Given the description of an element on the screen output the (x, y) to click on. 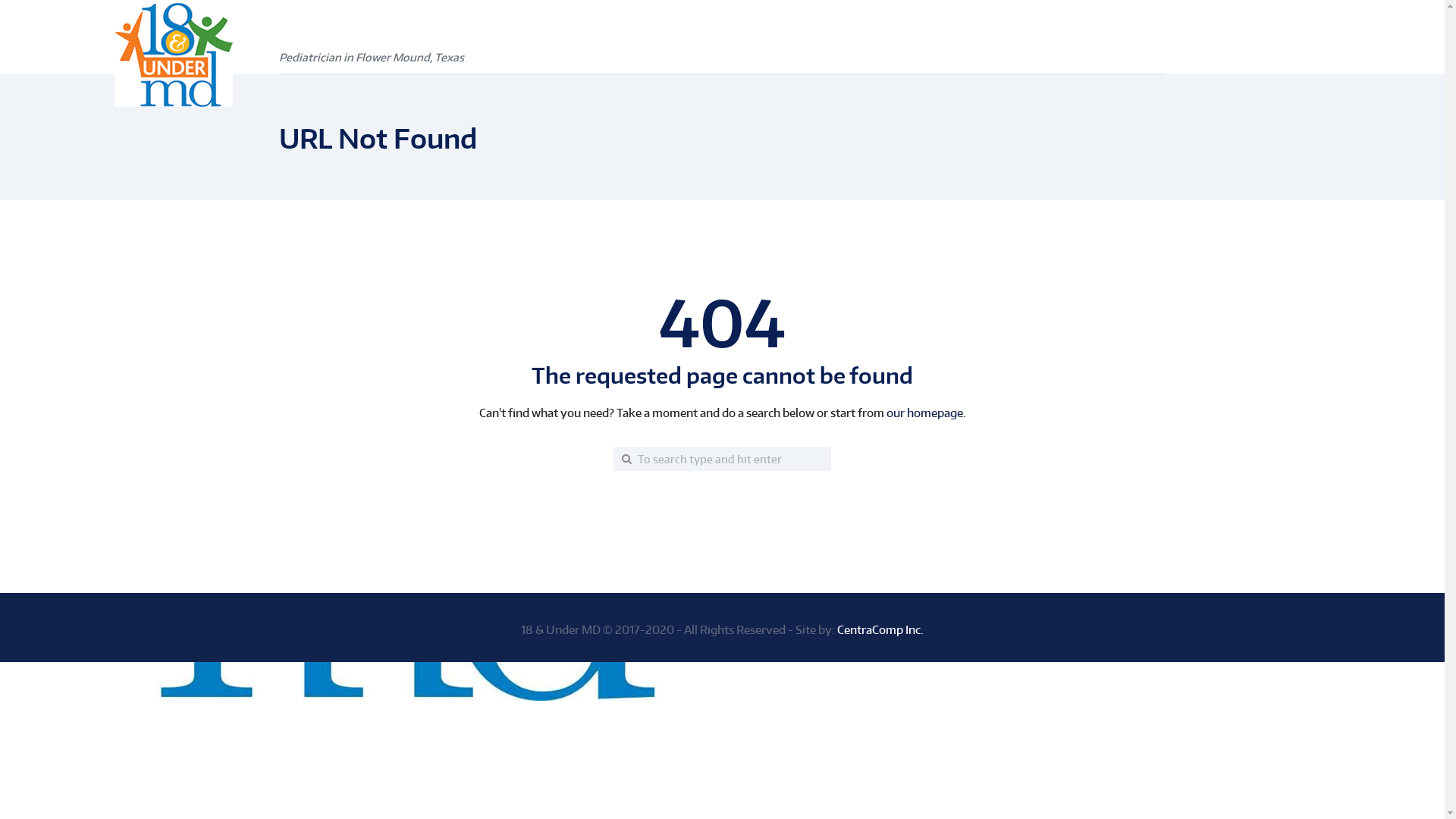
Pediatrician in Flower Mound, Texas Element type: text (371, 45)
our homepage Element type: text (923, 412)
CentraComp Inc. Element type: text (880, 629)
Start search Element type: hover (599, 458)
